Given the description of an element on the screen output the (x, y) to click on. 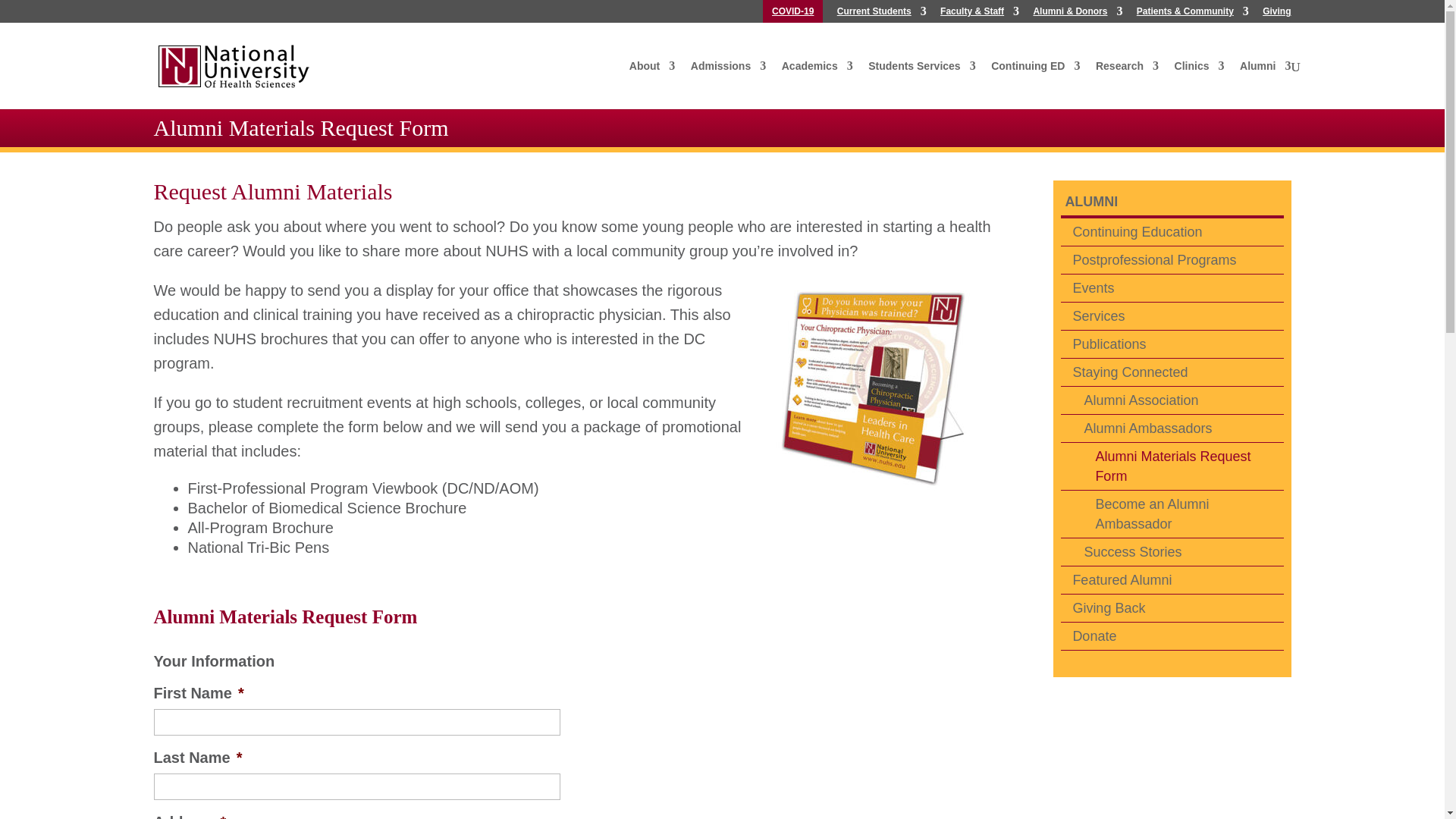
About (651, 73)
Current Students (881, 14)
COVID-19 (792, 14)
Giving (1276, 14)
